Given the description of an element on the screen output the (x, y) to click on. 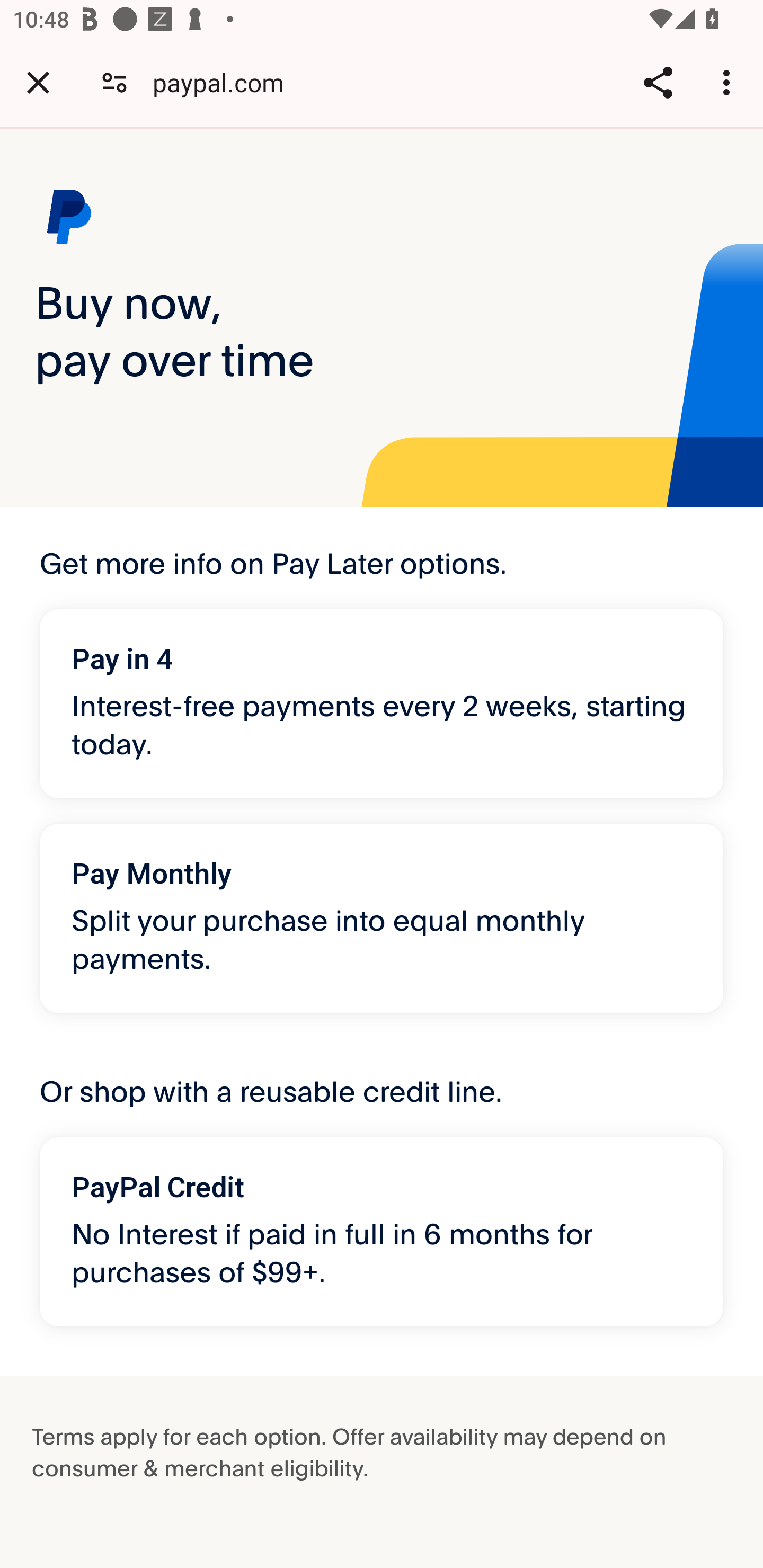
Close tab (38, 82)
Share (657, 82)
Customize and control Google Chrome (729, 82)
Connection is secure (114, 81)
paypal.com (224, 81)
